Given the description of an element on the screen output the (x, y) to click on. 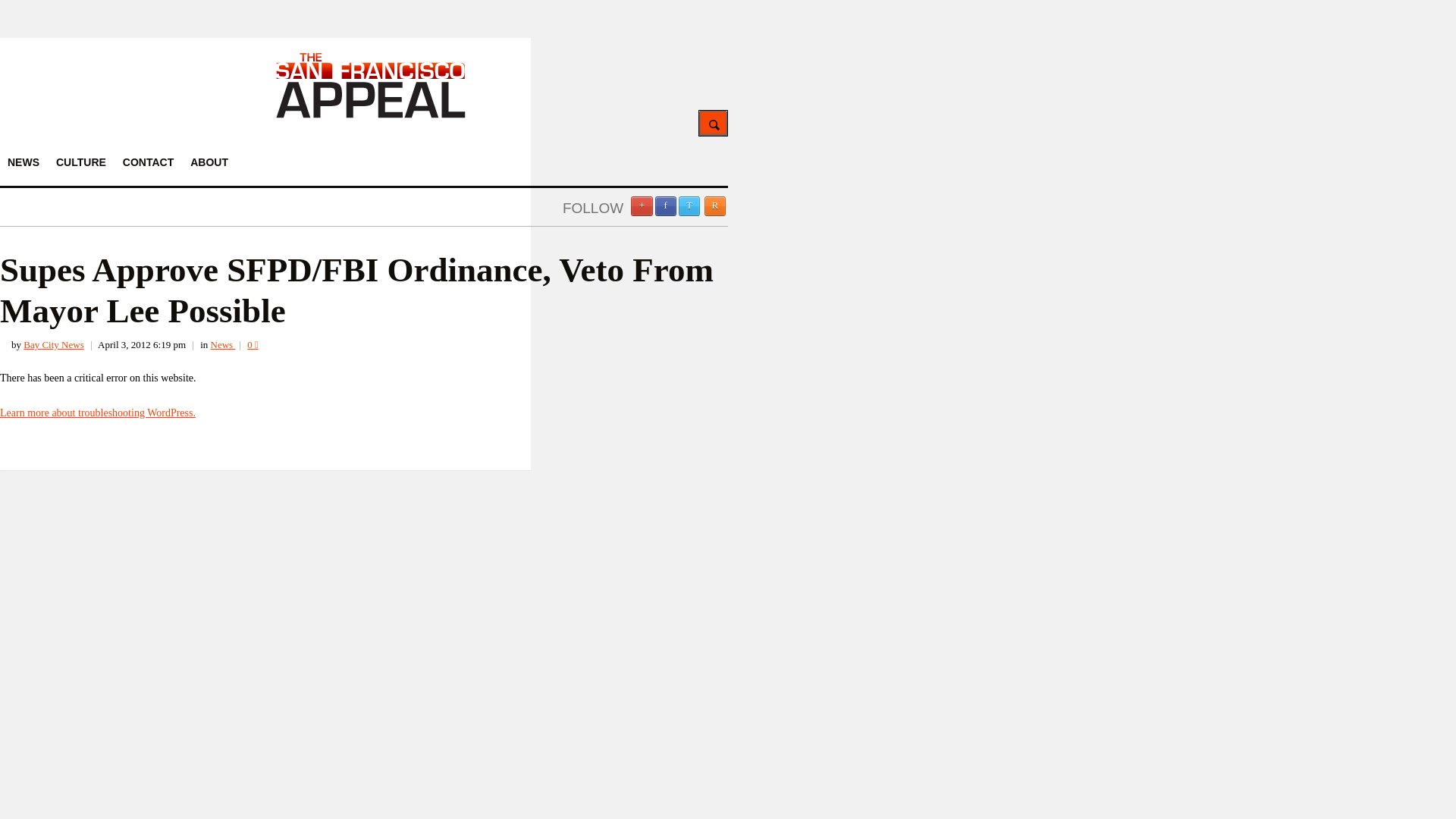
CONTACT (147, 162)
Search (712, 122)
ABOUT (209, 162)
TWITTER (689, 206)
RSS (714, 206)
Bay City News (52, 344)
CULTURE (80, 162)
Search (712, 122)
NEWS (23, 162)
0 (253, 344)
